Given the description of an element on the screen output the (x, y) to click on. 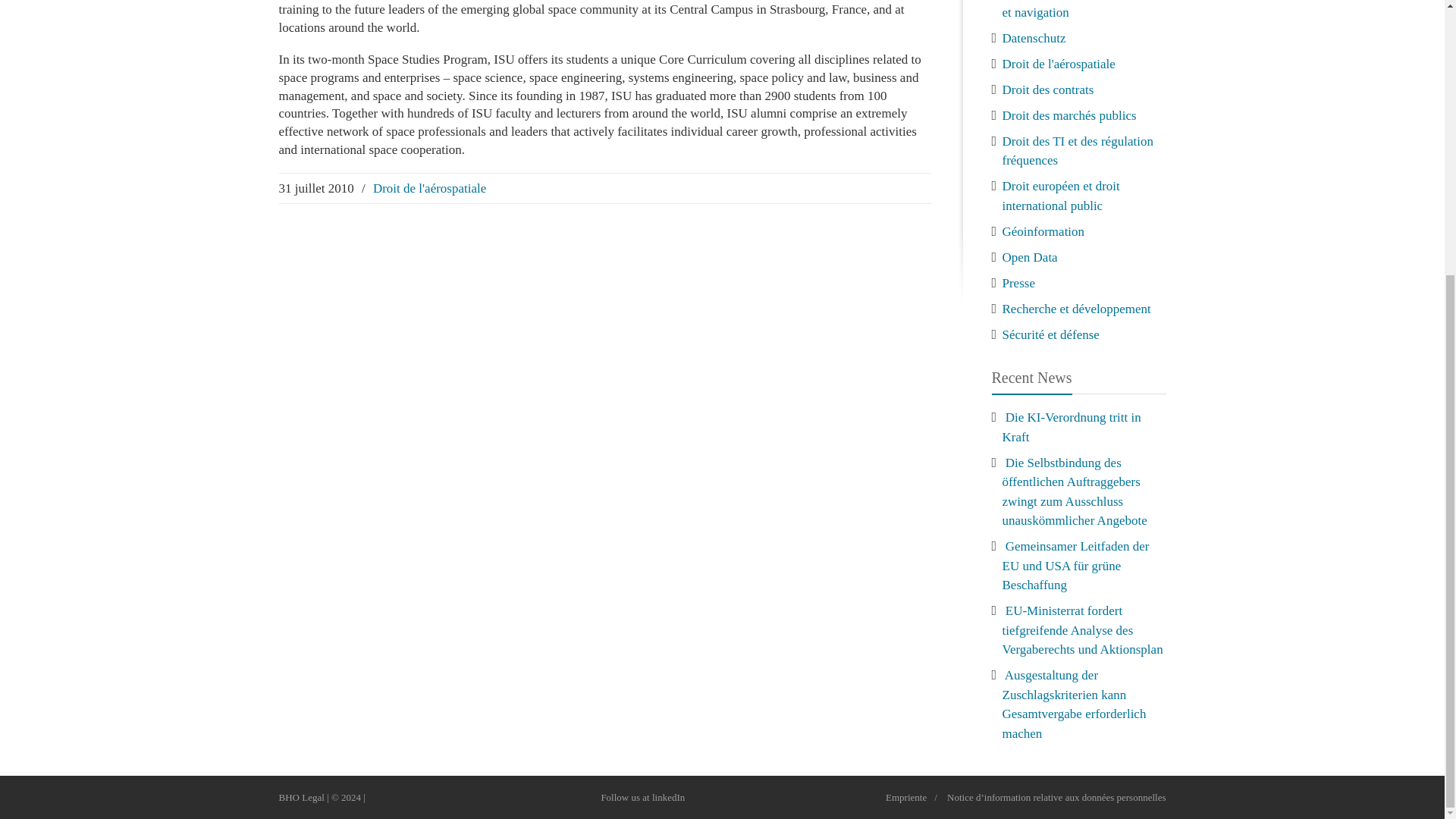
Droit des contrats (1048, 89)
Communication des satellites et navigation (1078, 9)
Open Data (1030, 256)
Presse (1019, 282)
Datenschutz (1034, 38)
